Given the description of an element on the screen output the (x, y) to click on. 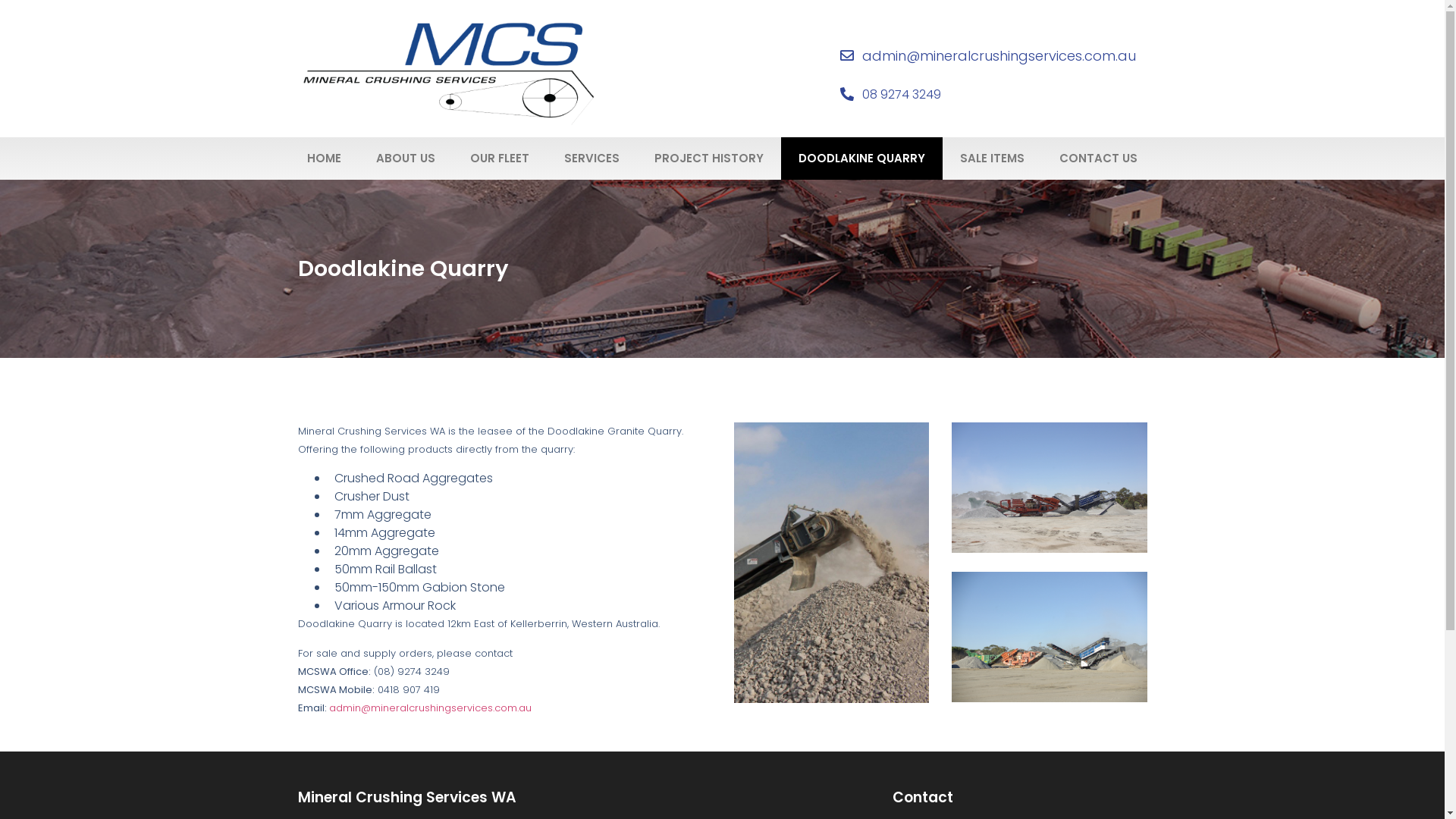
DOODLAKINE QUARRY Element type: text (861, 158)
OUR FLEET Element type: text (499, 158)
CONTACT US Element type: text (1097, 158)
PROJECT HISTORY Element type: text (709, 158)
ABOUT US Element type: text (405, 158)
SALE ITEMS Element type: text (991, 158)
SERVICES Element type: text (591, 158)
HOME Element type: text (323, 158)
admin@mineralcrushingservices.com.au Element type: text (430, 707)
